Given the description of an element on the screen output the (x, y) to click on. 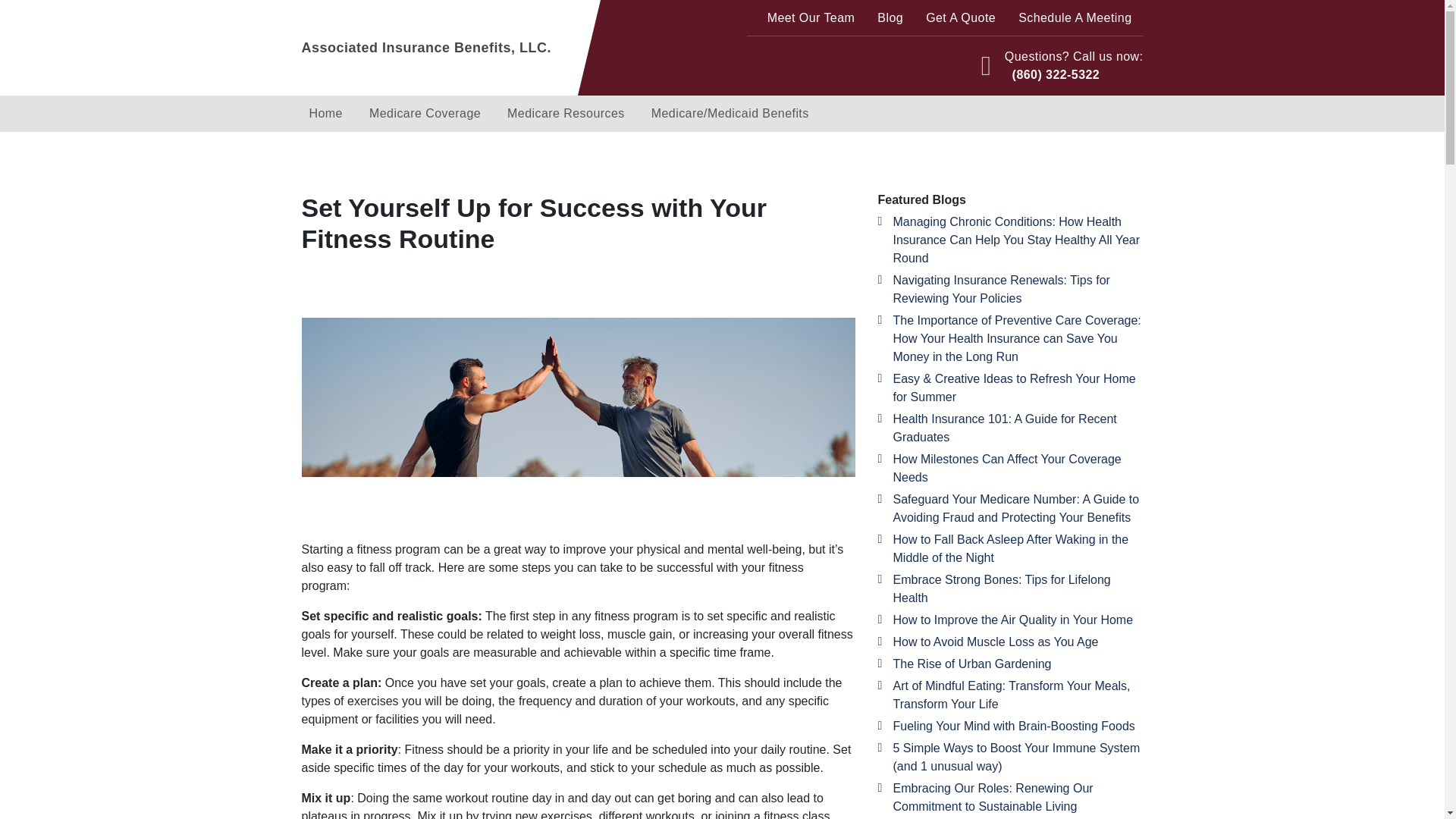
The Rise of Urban Gardening (972, 663)
Medicare: What you need to know (569, 156)
Associated Insurance Benefits, LLC. (467, 47)
How to Avoid Muscle Loss as You Age (996, 641)
Medicare Resources (565, 113)
Get A Quote (960, 18)
How to Improve the Air Quality in Your Home (1013, 619)
Meet Our Team (810, 18)
Choosing Our Team Means... (371, 156)
Blog (890, 18)
Schedule A Meeting (1074, 18)
Embrace Strong Bones: Tips for Lifelong Health (1001, 588)
Medicare Advantage Plans (431, 156)
